Given the description of an element on the screen output the (x, y) to click on. 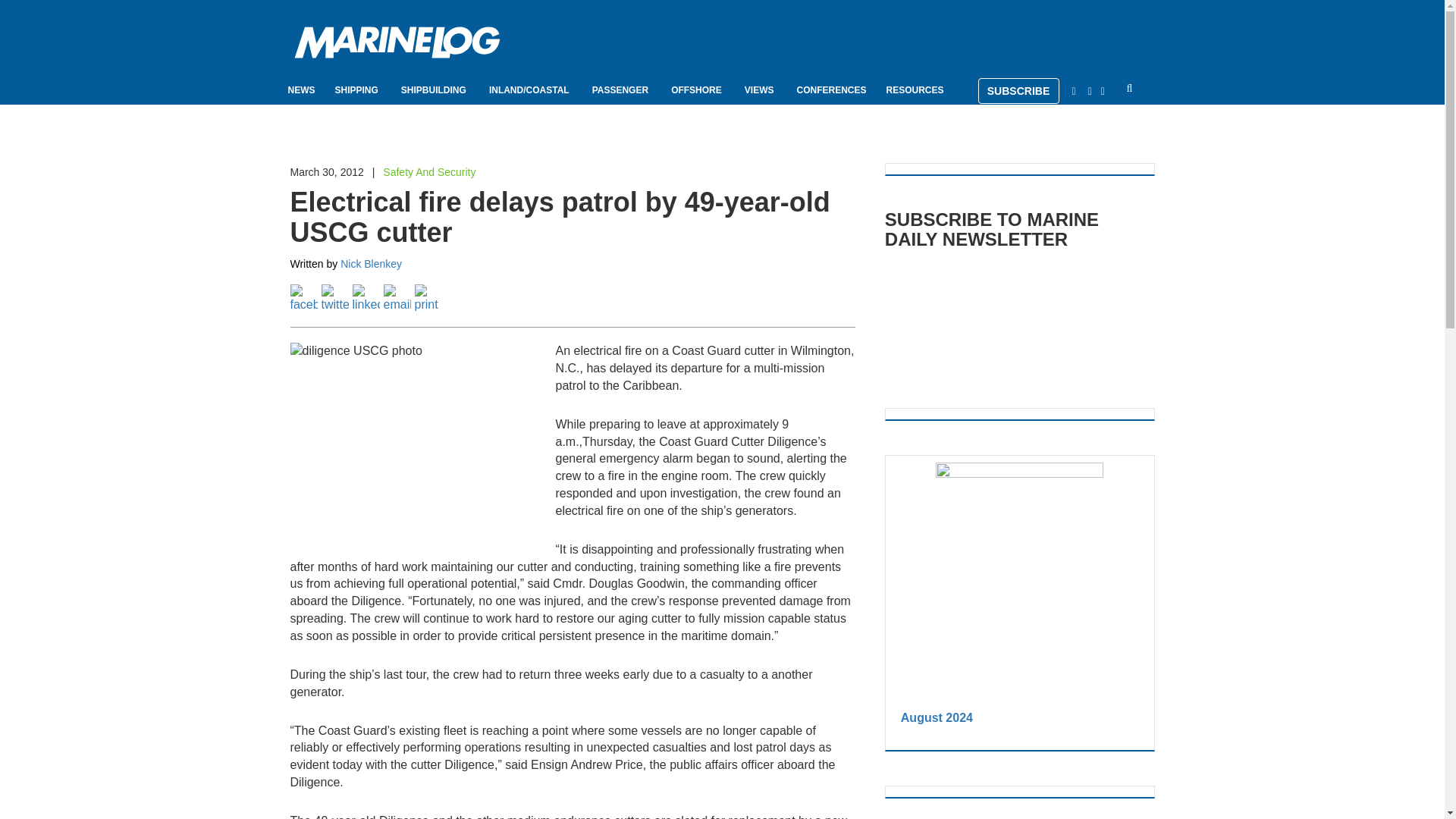
SHIPPING (358, 89)
News (301, 89)
Shipping (358, 89)
Shipbuilding (435, 89)
NEWS (301, 89)
SUBSCRIBE (1018, 90)
